Given the description of an element on the screen output the (x, y) to click on. 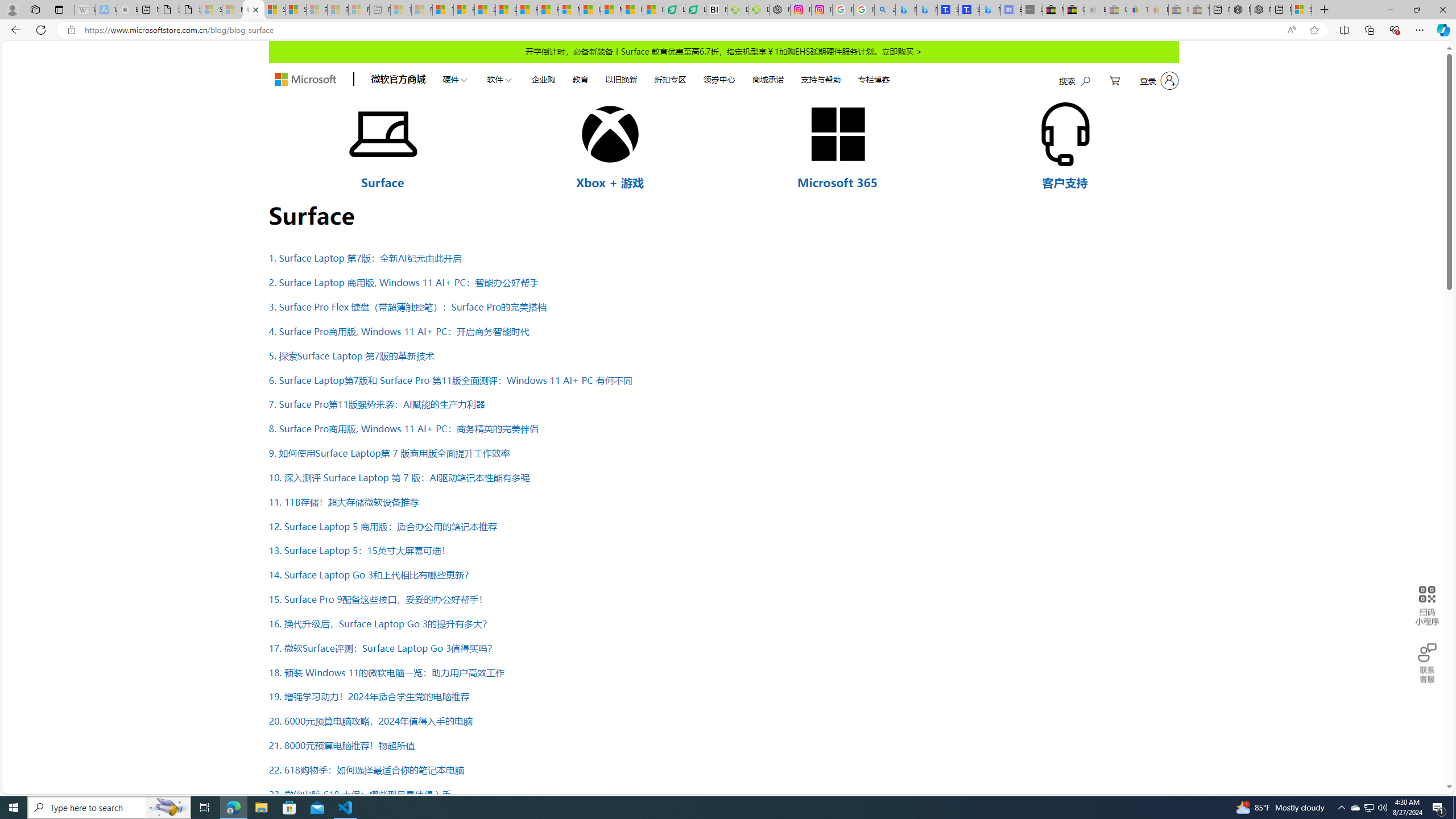
Marine life - MSN - Sleeping (421, 9)
Drinking tea every day is proven to delay biological aging (505, 9)
